Given the description of an element on the screen output the (x, y) to click on. 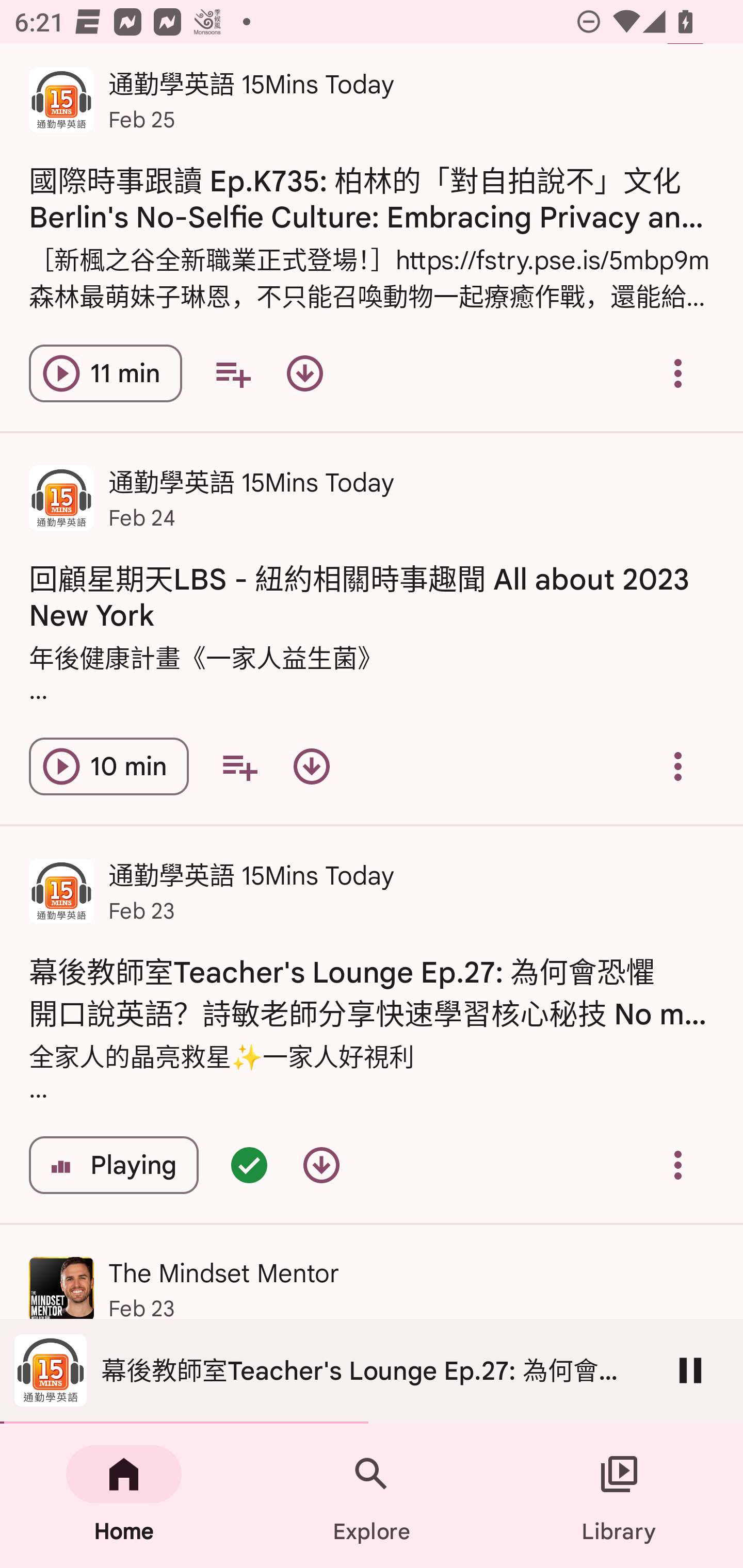
Add to your queue (232, 373)
Download episode (304, 373)
Overflow menu (677, 373)
Add to your queue (239, 765)
Download episode (311, 765)
Overflow menu (677, 765)
Episode queued - double tap for options (249, 1164)
Download episode (321, 1164)
Overflow menu (677, 1164)
Pause (690, 1370)
Explore (371, 1495)
Library (619, 1495)
